Given the description of an element on the screen output the (x, y) to click on. 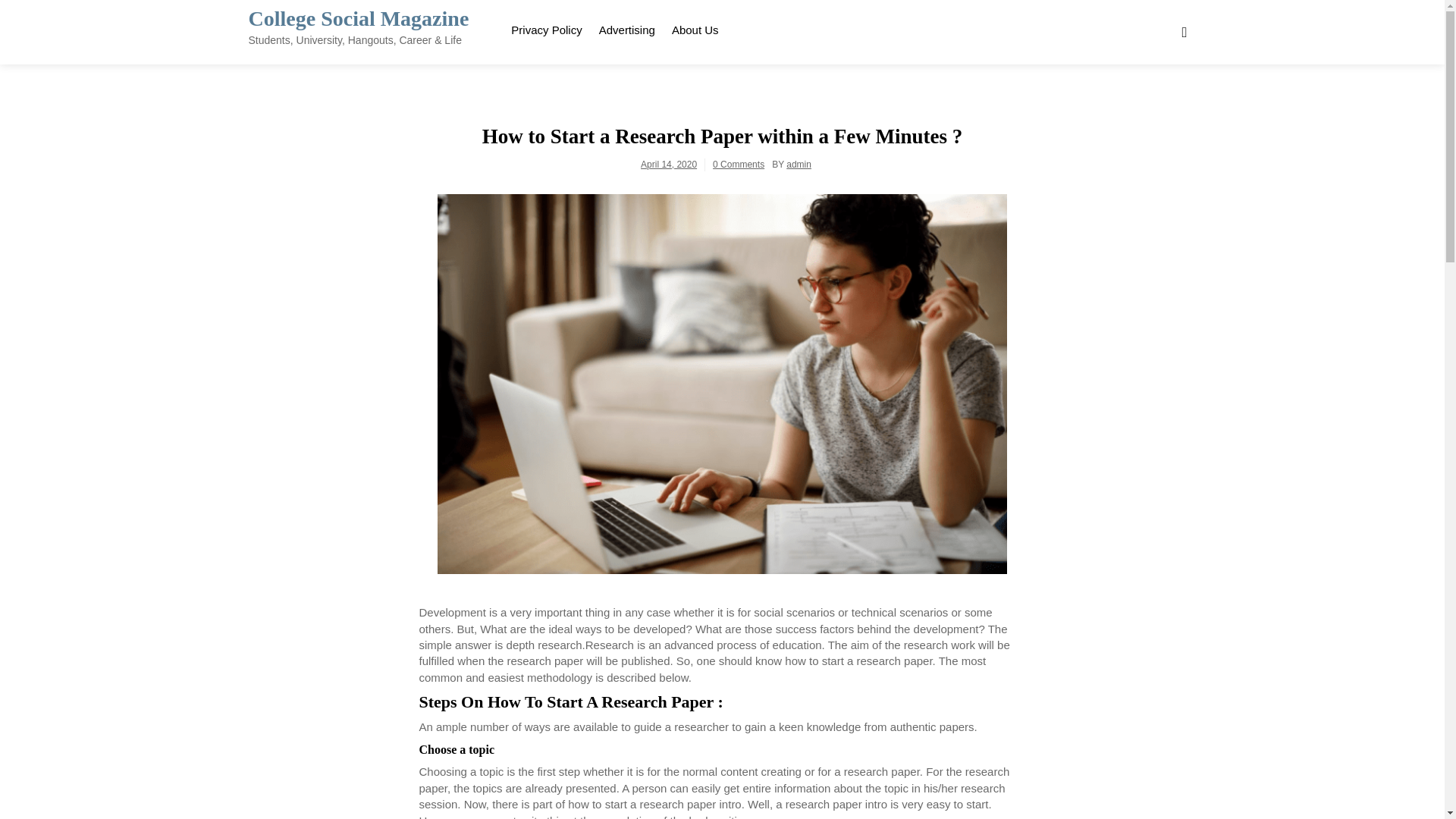
Advertising (627, 28)
April 14, 2020 (668, 163)
Advertising (627, 28)
0 Comments (738, 163)
admin (798, 163)
About Us (694, 28)
Privacy Policy (545, 28)
About Us (694, 28)
Privacy Policy (545, 28)
College Social Magazine (358, 18)
